Given the description of an element on the screen output the (x, y) to click on. 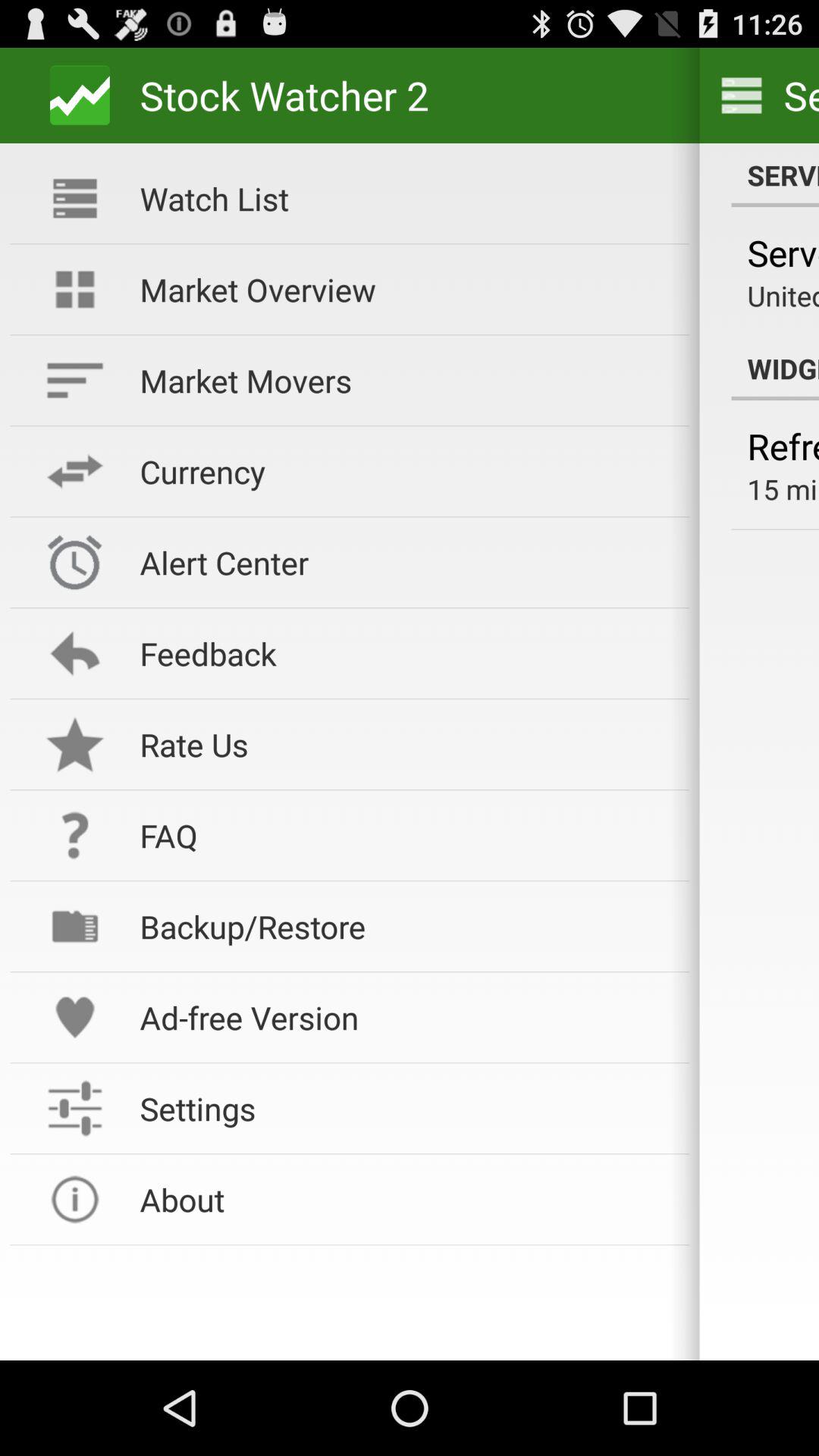
open ad-free version app (404, 1017)
